Given the description of an element on the screen output the (x, y) to click on. 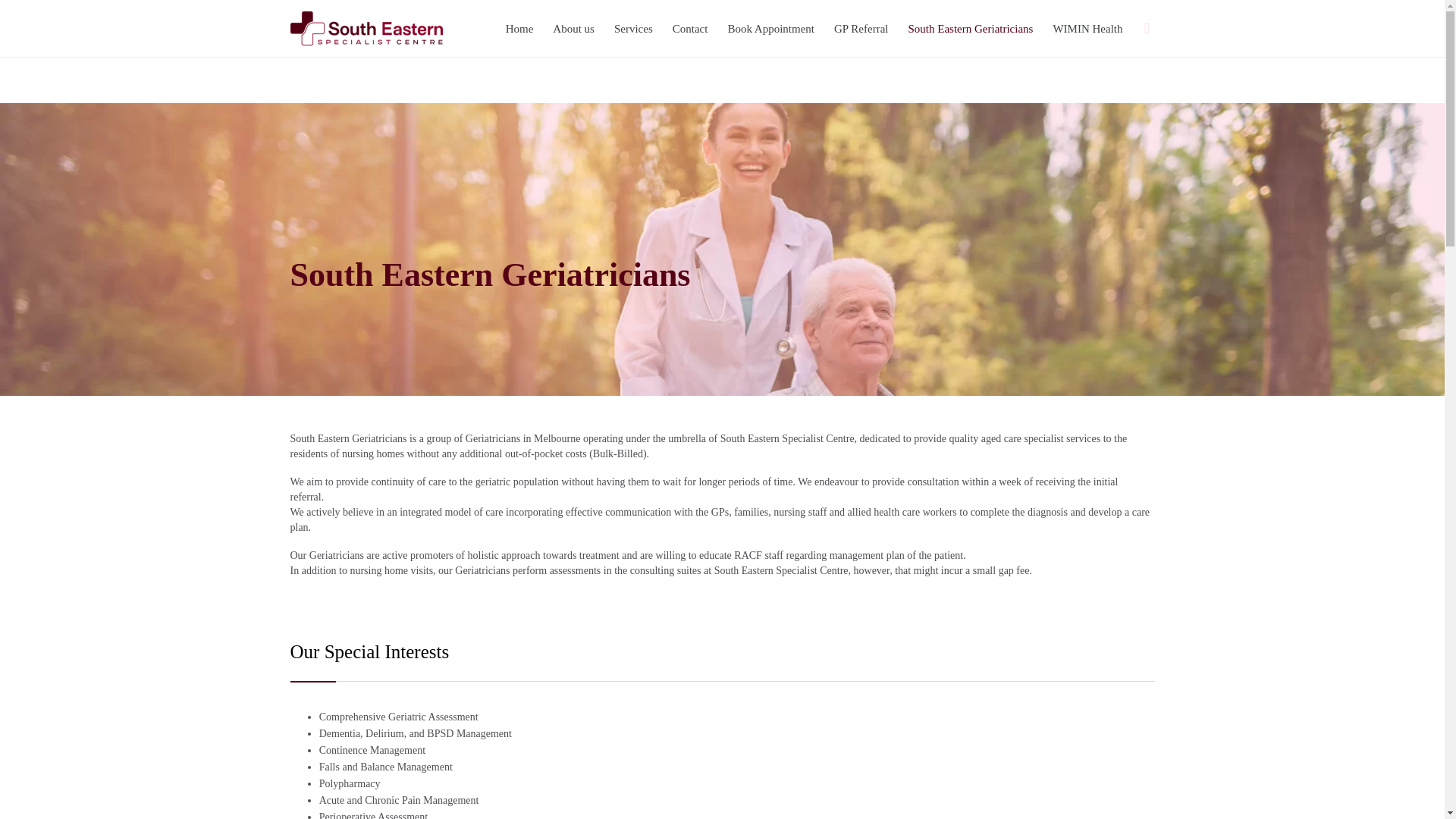
Services (633, 29)
Contact (689, 29)
Home (519, 29)
About us (573, 29)
